Given the description of an element on the screen output the (x, y) to click on. 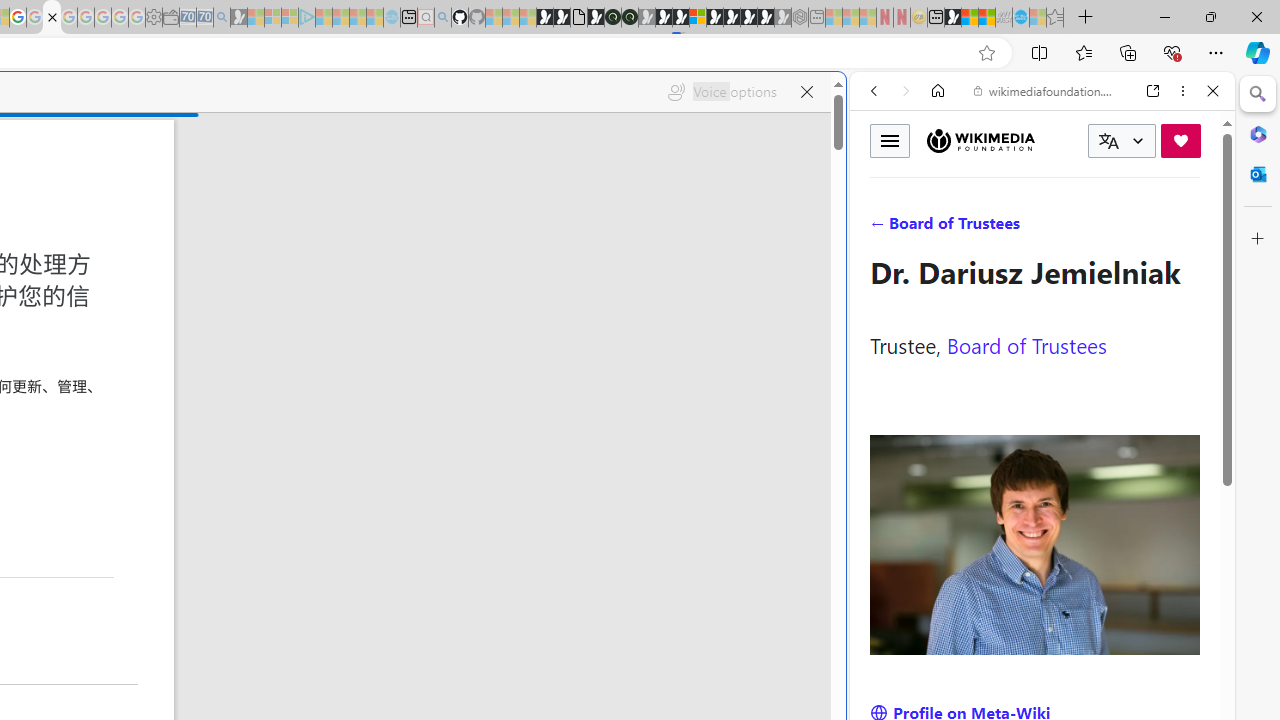
Frequently visited (418, 265)
Toggle menu (890, 140)
Favorites - Sleeping (1055, 17)
